Given the description of an element on the screen output the (x, y) to click on. 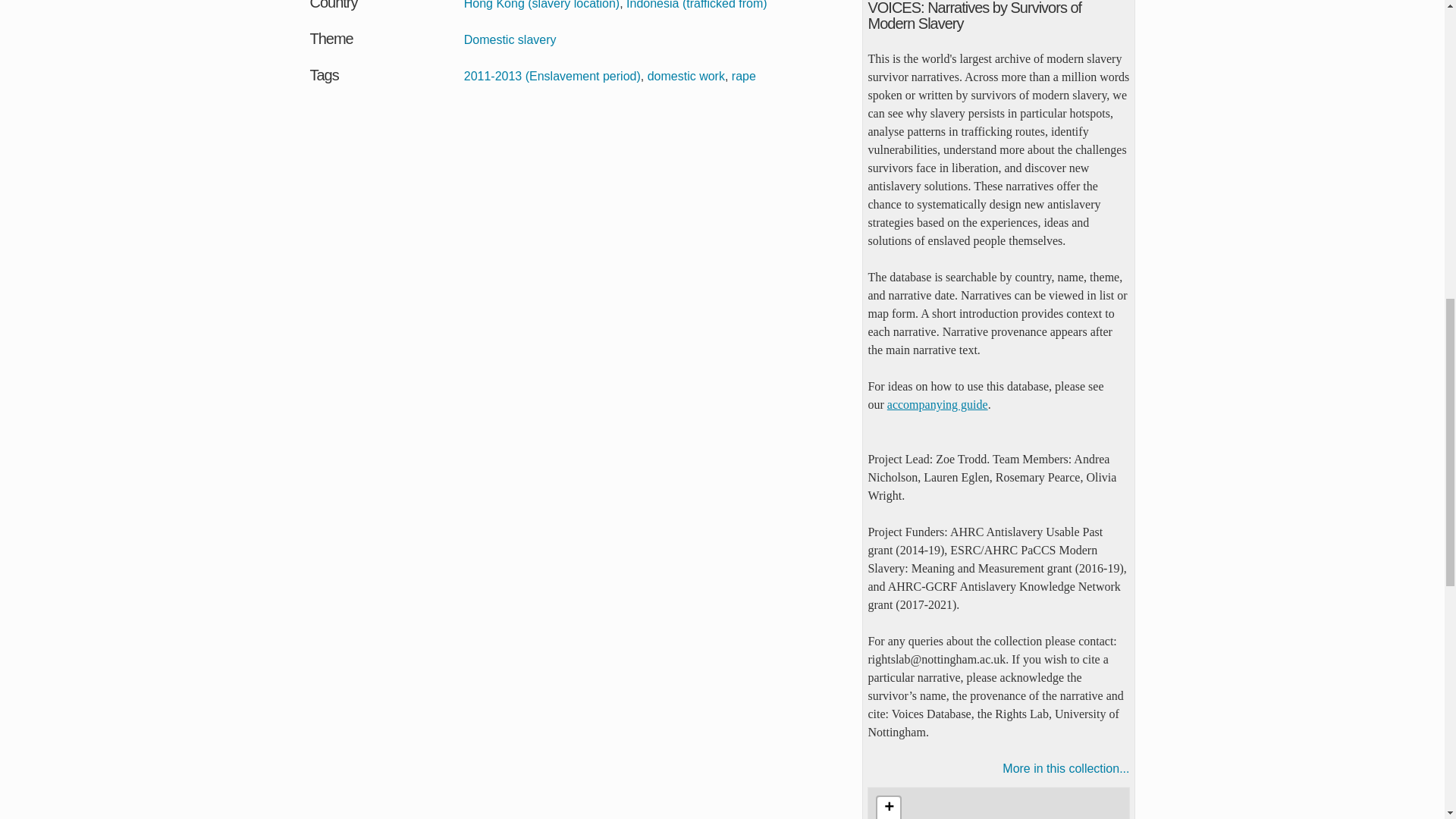
More in this collection... (998, 769)
Zoom in (888, 807)
domestic work (686, 75)
Domestic slavery (510, 39)
rape (743, 75)
accompanying guide (937, 404)
